Given the description of an element on the screen output the (x, y) to click on. 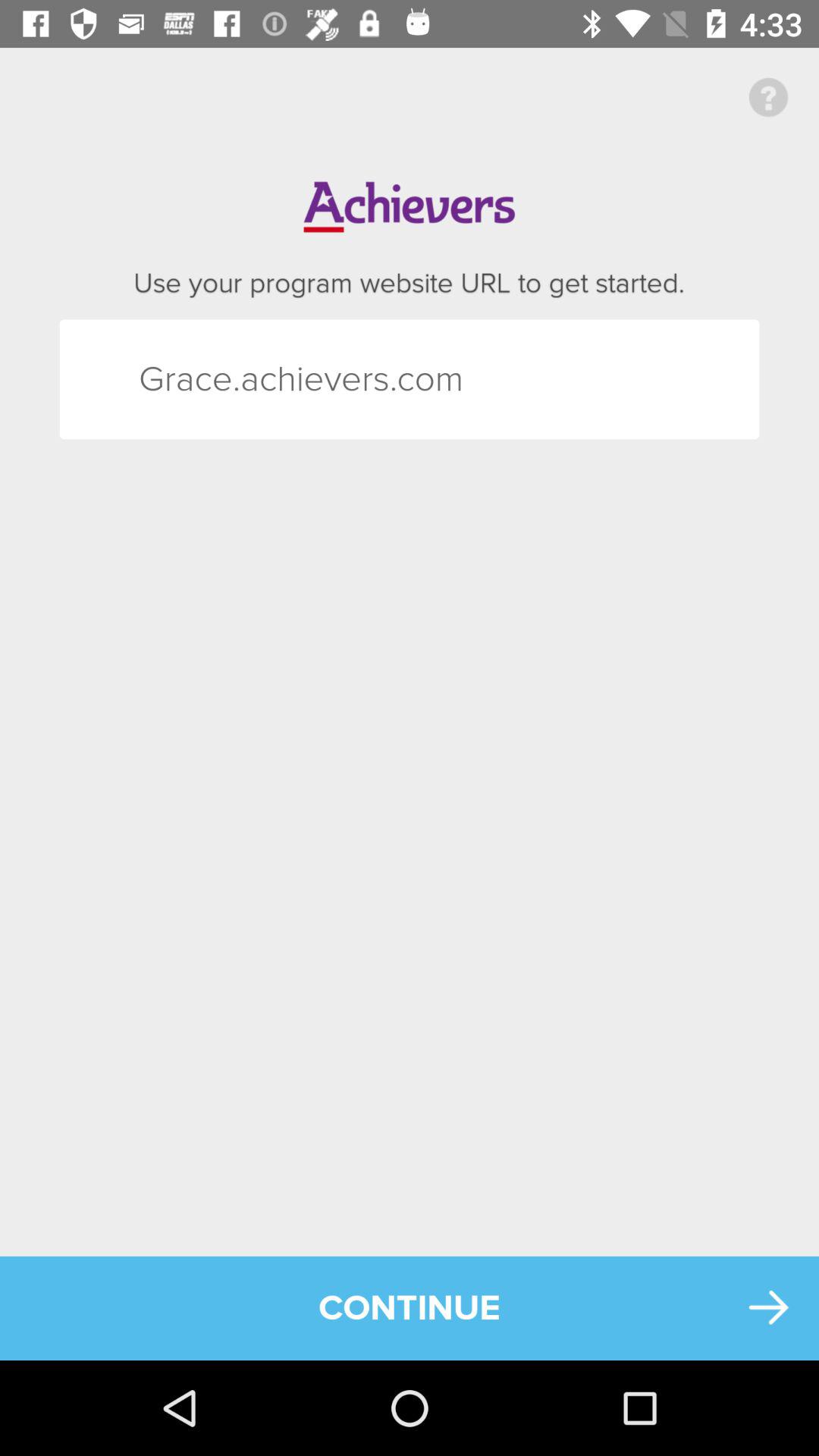
press the item below use your program (165, 379)
